Given the description of an element on the screen output the (x, y) to click on. 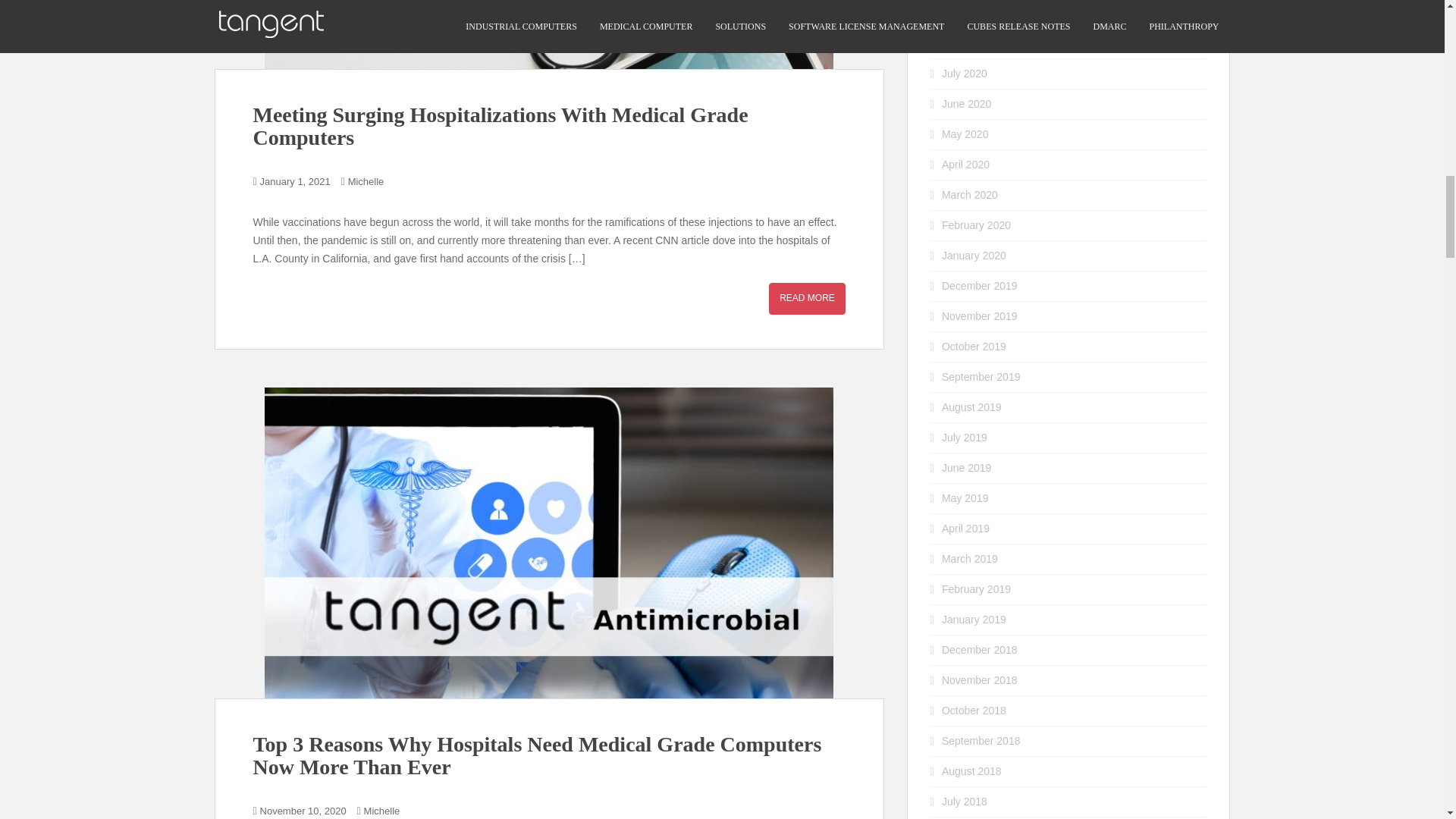
READ MORE (806, 297)
Michelle (382, 810)
Michelle (365, 181)
January 1, 2021 (295, 181)
November 10, 2020 (303, 810)
